Given the description of an element on the screen output the (x, y) to click on. 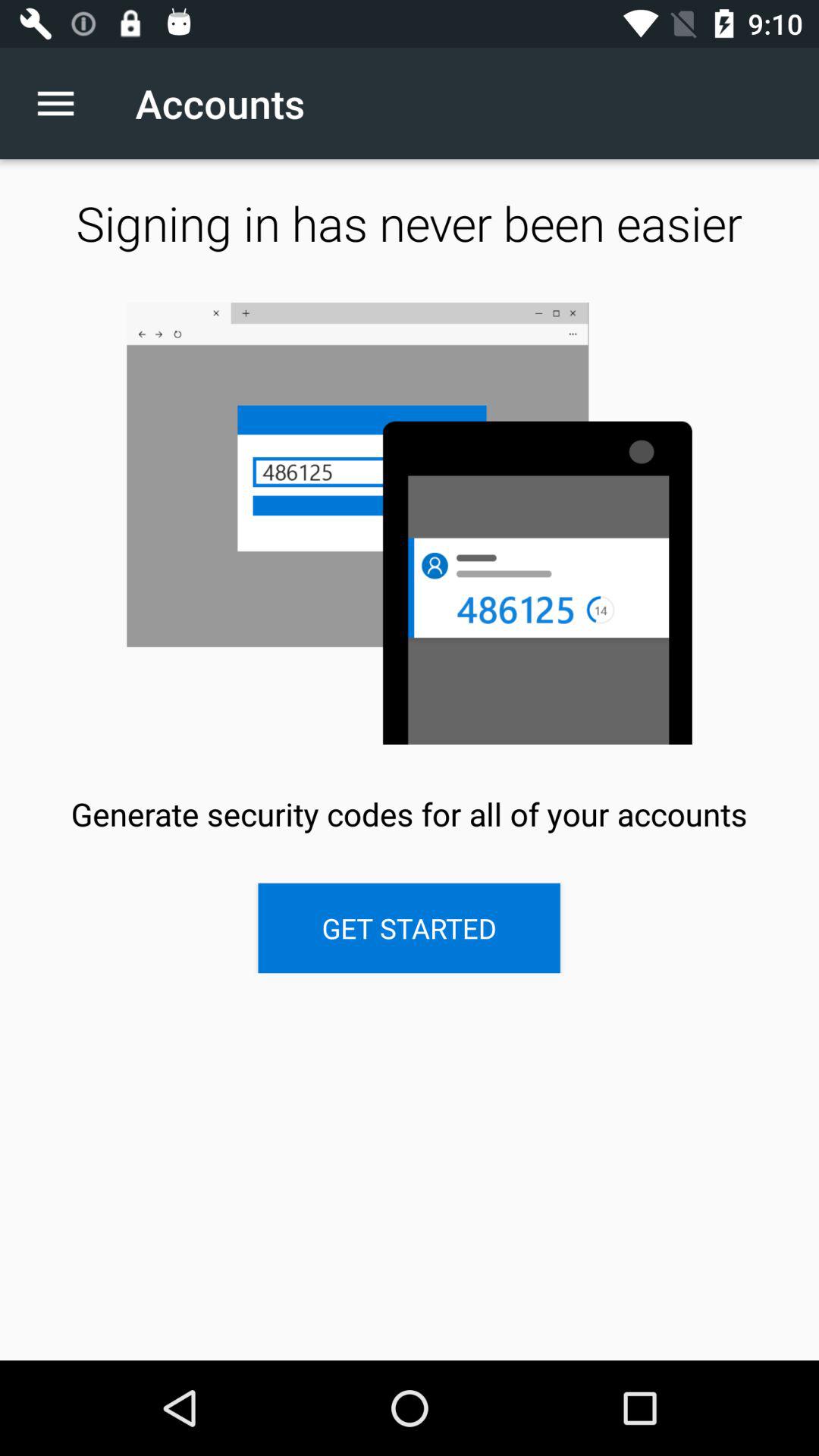
launch item next to the accounts app (63, 103)
